Given the description of an element on the screen output the (x, y) to click on. 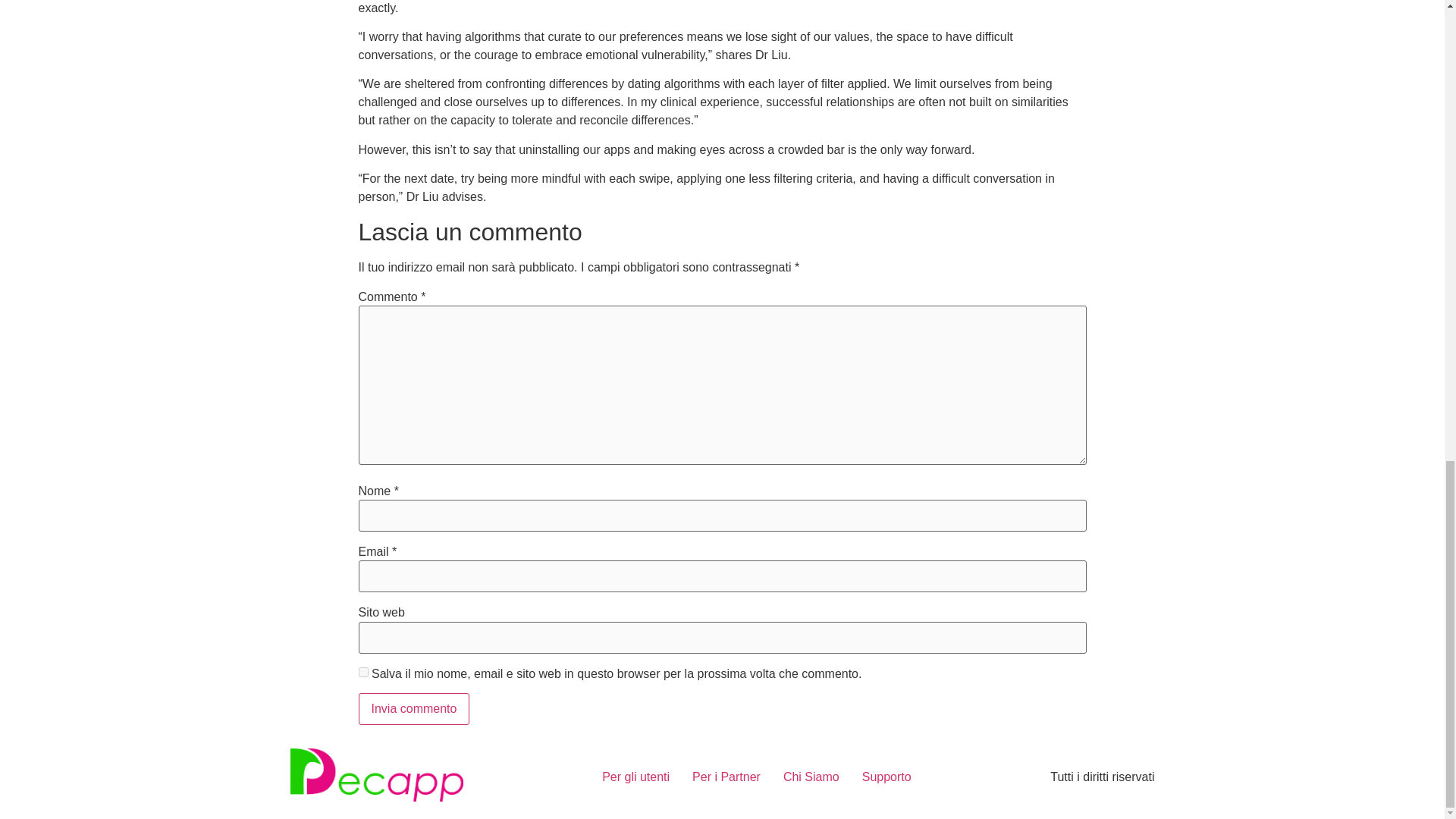
Invia commento (413, 708)
Per gli utenti (636, 777)
Per i Partner (726, 777)
yes (363, 672)
Invia commento (413, 708)
Chi Siamo (810, 777)
Supporto (886, 777)
